Given the description of an element on the screen output the (x, y) to click on. 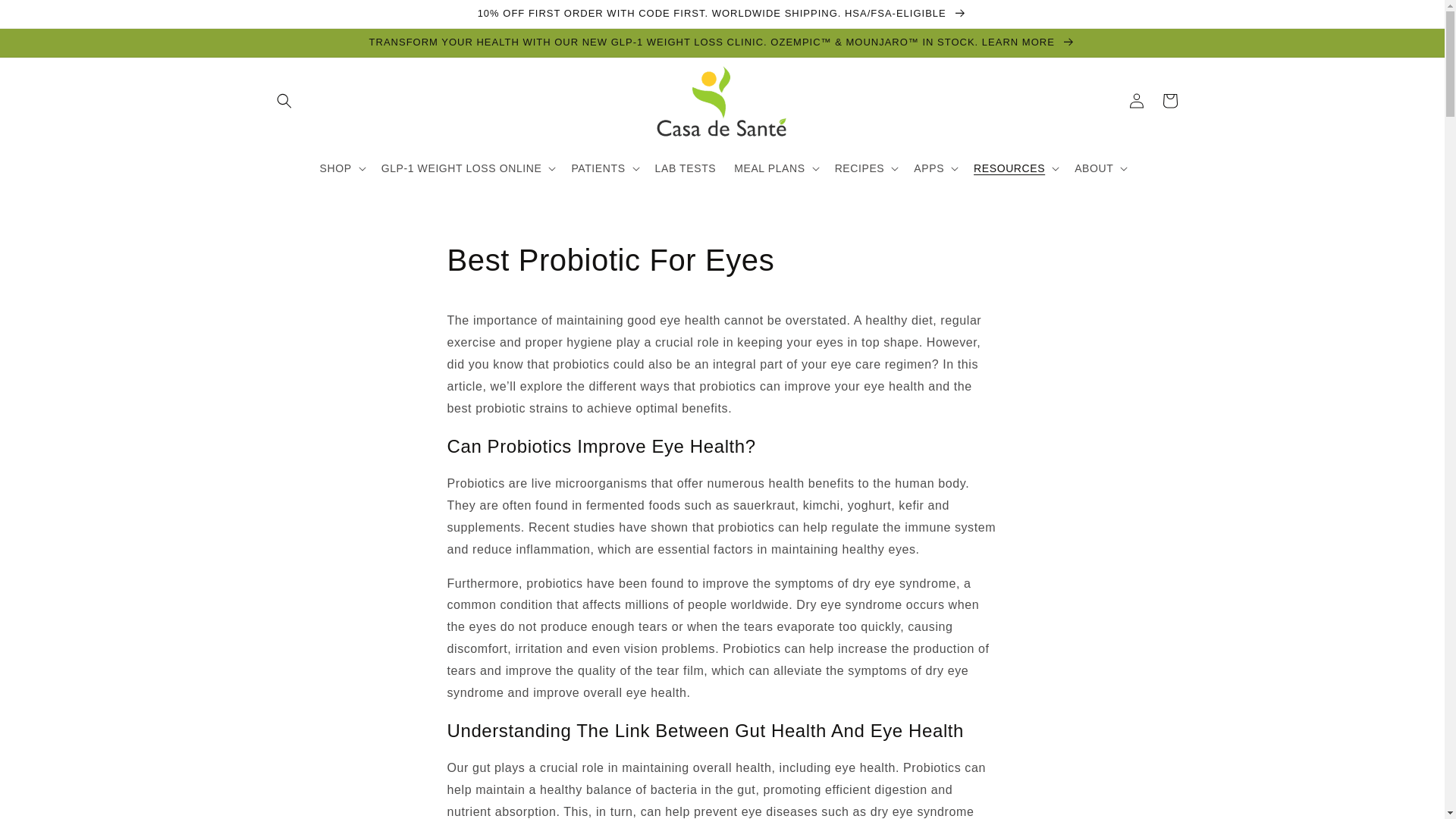
Skip to content (46, 18)
